Given the description of an element on the screen output the (x, y) to click on. 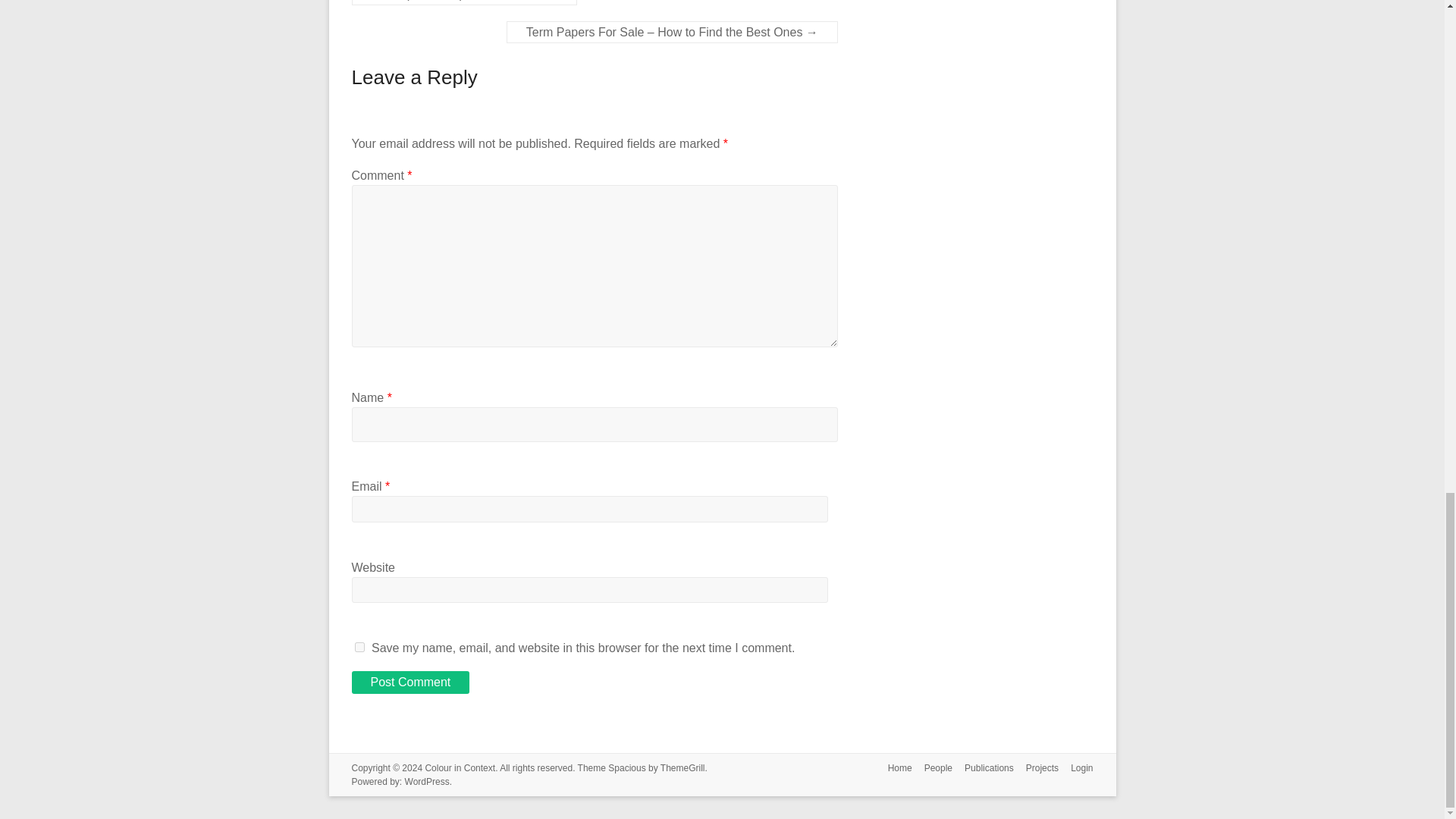
People (932, 769)
Publications (982, 769)
Home (894, 769)
Login (1075, 769)
Post Comment (411, 681)
Post Comment (411, 681)
Spacious (626, 767)
Spacious (626, 767)
Projects (1035, 769)
WordPress (426, 781)
WordPress (426, 781)
yes (360, 646)
Colour in Context (460, 767)
Colour in Context (460, 767)
